Given the description of an element on the screen output the (x, y) to click on. 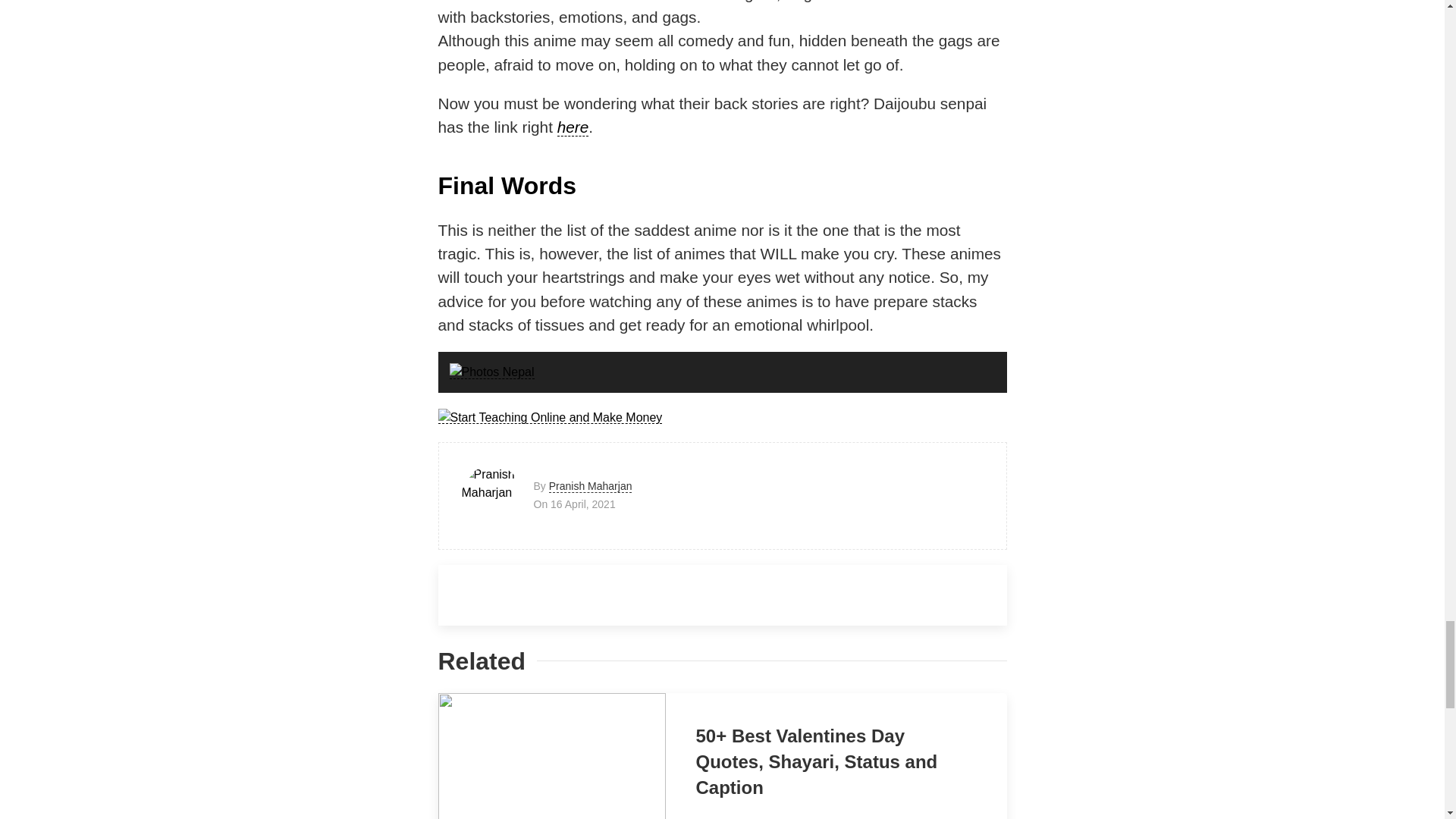
Start Teaching Online and Make Money (550, 417)
here (573, 126)
5 Animes That Will Make You Cry 13 (550, 417)
Pranish Maharjan (589, 486)
5 Animes That Will Make You Cry 12 (491, 372)
